Given the description of an element on the screen output the (x, y) to click on. 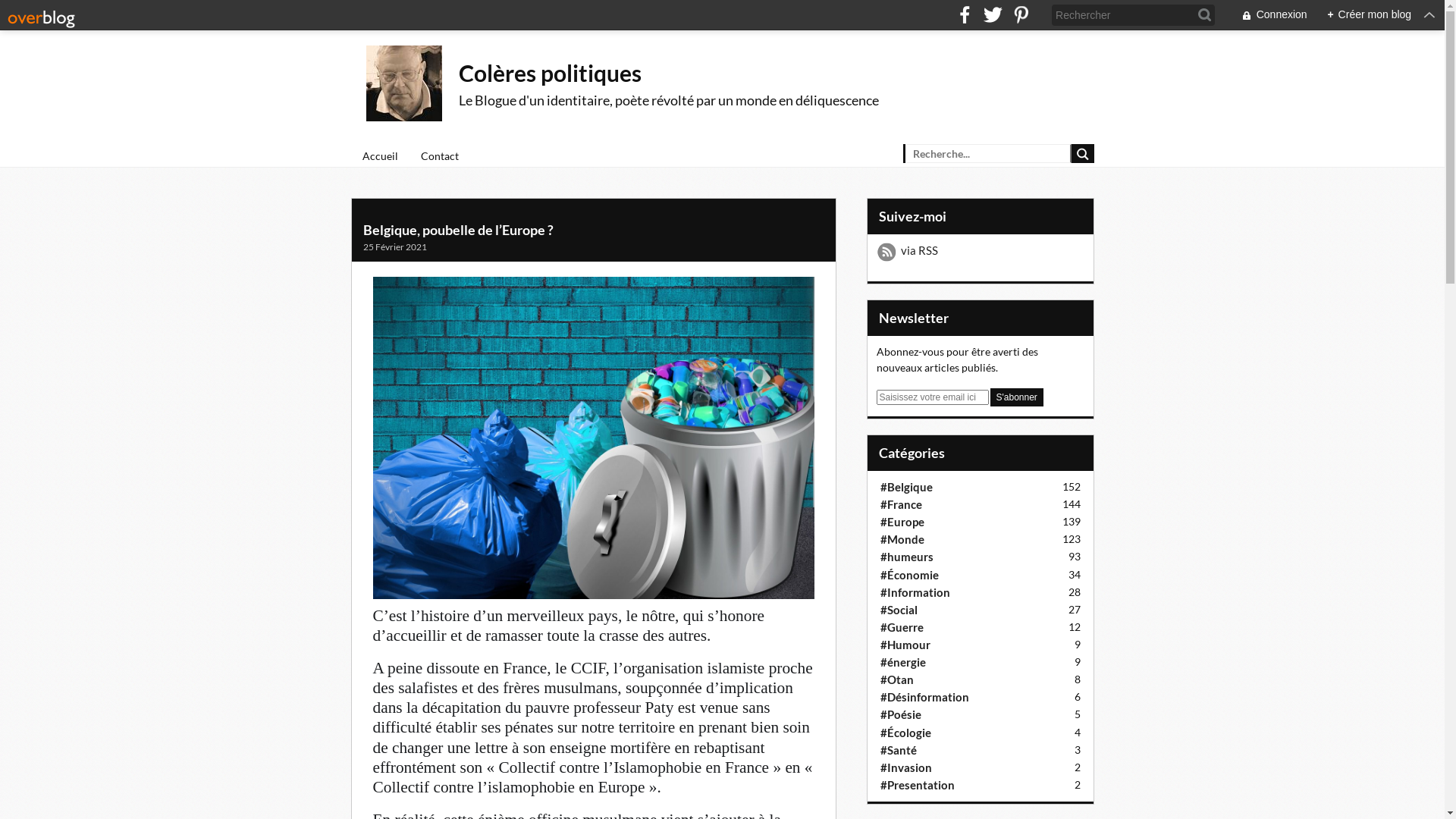
S'abonner Element type: text (1016, 397)
#Otan Element type: text (896, 679)
#Presentation Element type: text (916, 784)
#Europe Element type: text (901, 521)
 facebook Element type: hover (964, 14)
Contact Element type: text (439, 155)
#Guerre Element type: text (900, 626)
#humeurs Element type: text (905, 556)
via RSS Element type: text (980, 253)
#Information Element type: text (914, 592)
#Monde Element type: text (901, 539)
#Humour Element type: text (904, 644)
#Invasion Element type: text (905, 767)
Connexion Element type: text (1266, 14)
#France Element type: text (900, 504)
 pinterest Element type: hover (1020, 14)
Accueil Element type: text (379, 155)
#Belgique Element type: text (905, 486)
 twitter Element type: hover (992, 14)
#Social Element type: text (897, 609)
